Given the description of an element on the screen output the (x, y) to click on. 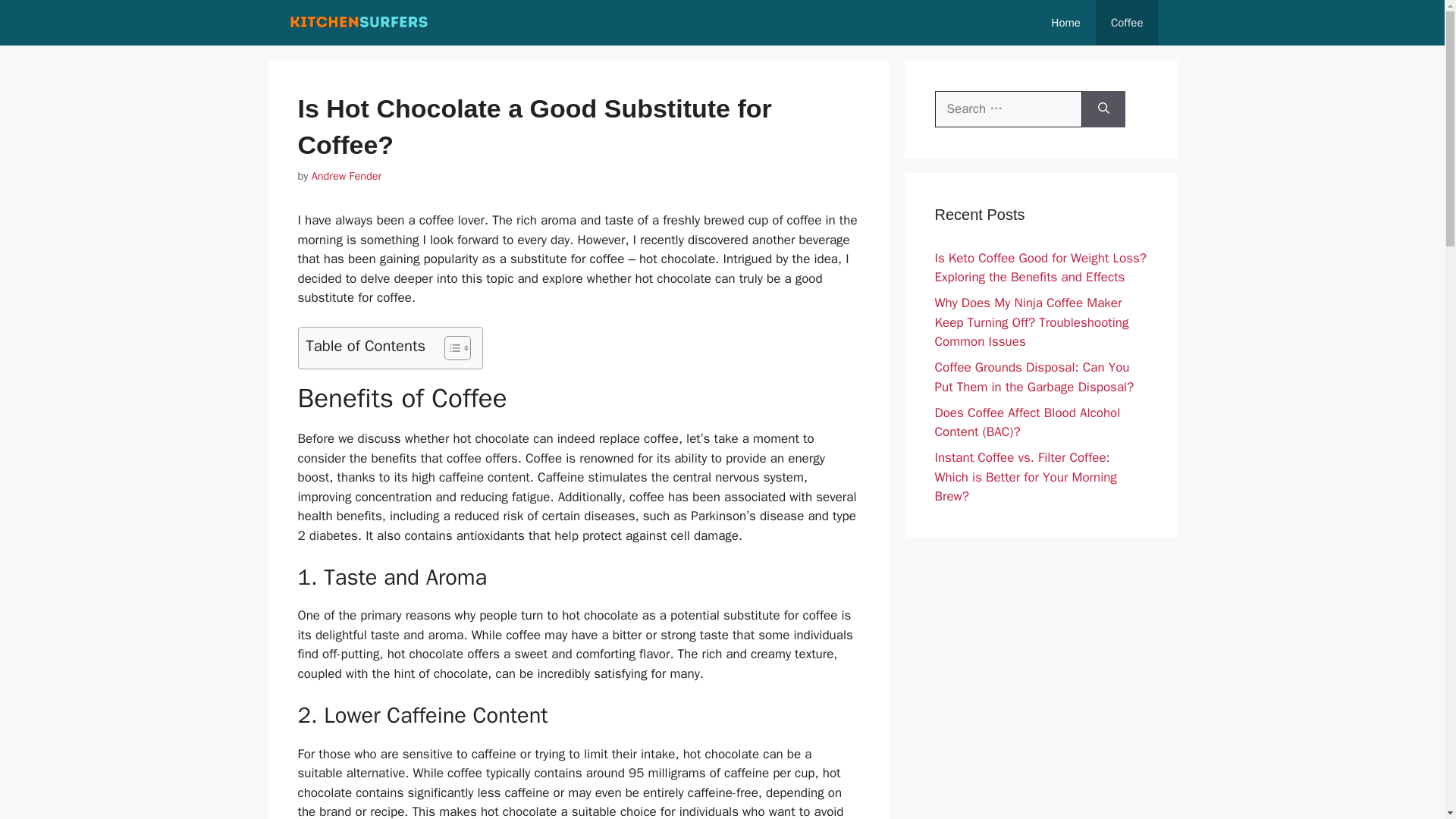
Home (1066, 22)
Andrew Fender (346, 175)
Coffee (1127, 22)
KitchenSurfers (359, 22)
View all posts by Andrew Fender (346, 175)
